Given the description of an element on the screen output the (x, y) to click on. 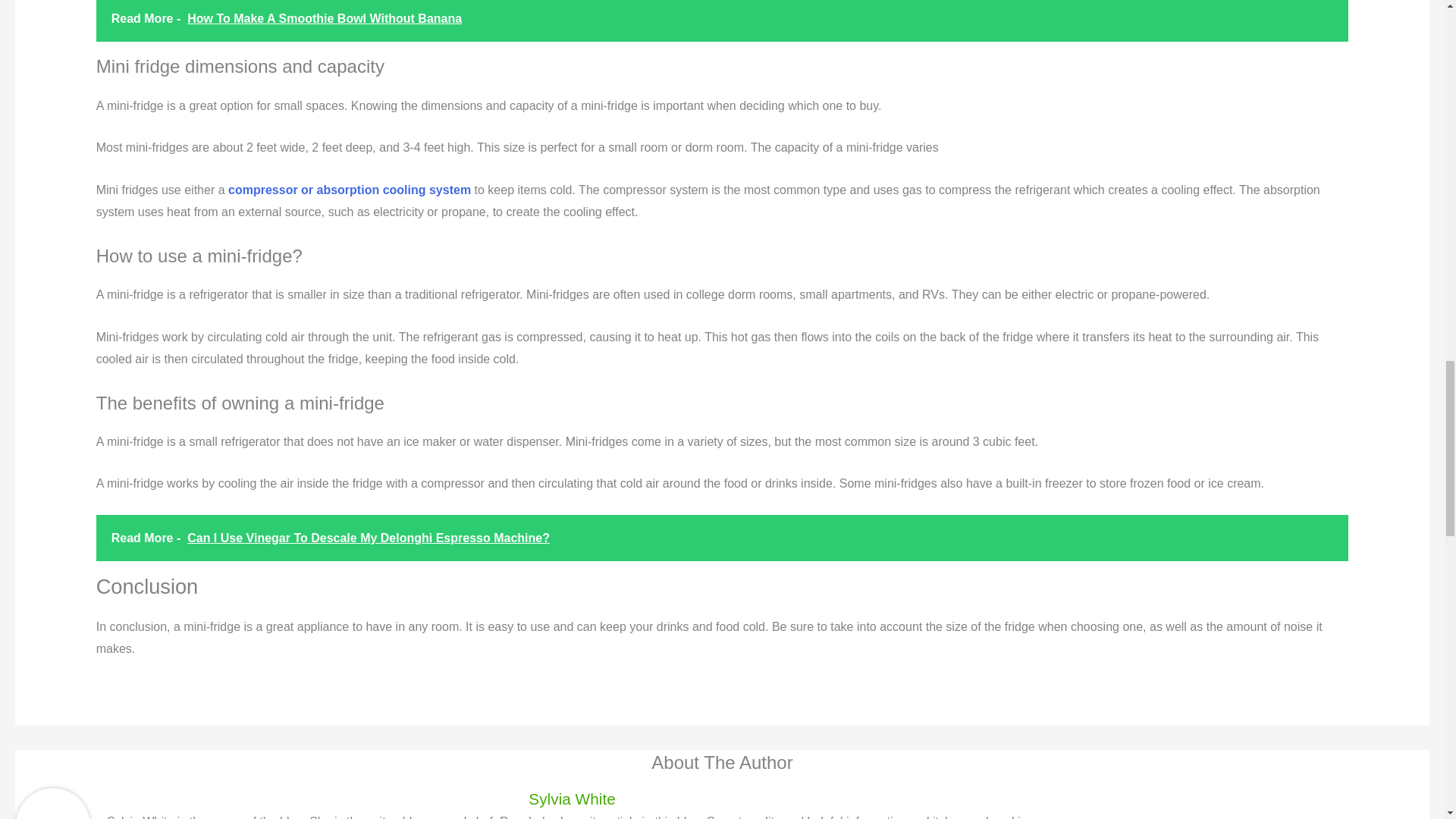
Read More -  How To Make A Smoothie Bowl Without Banana (722, 21)
Sylvia White (571, 798)
compressor or absorption cooling system (349, 189)
